Given the description of an element on the screen output the (x, y) to click on. 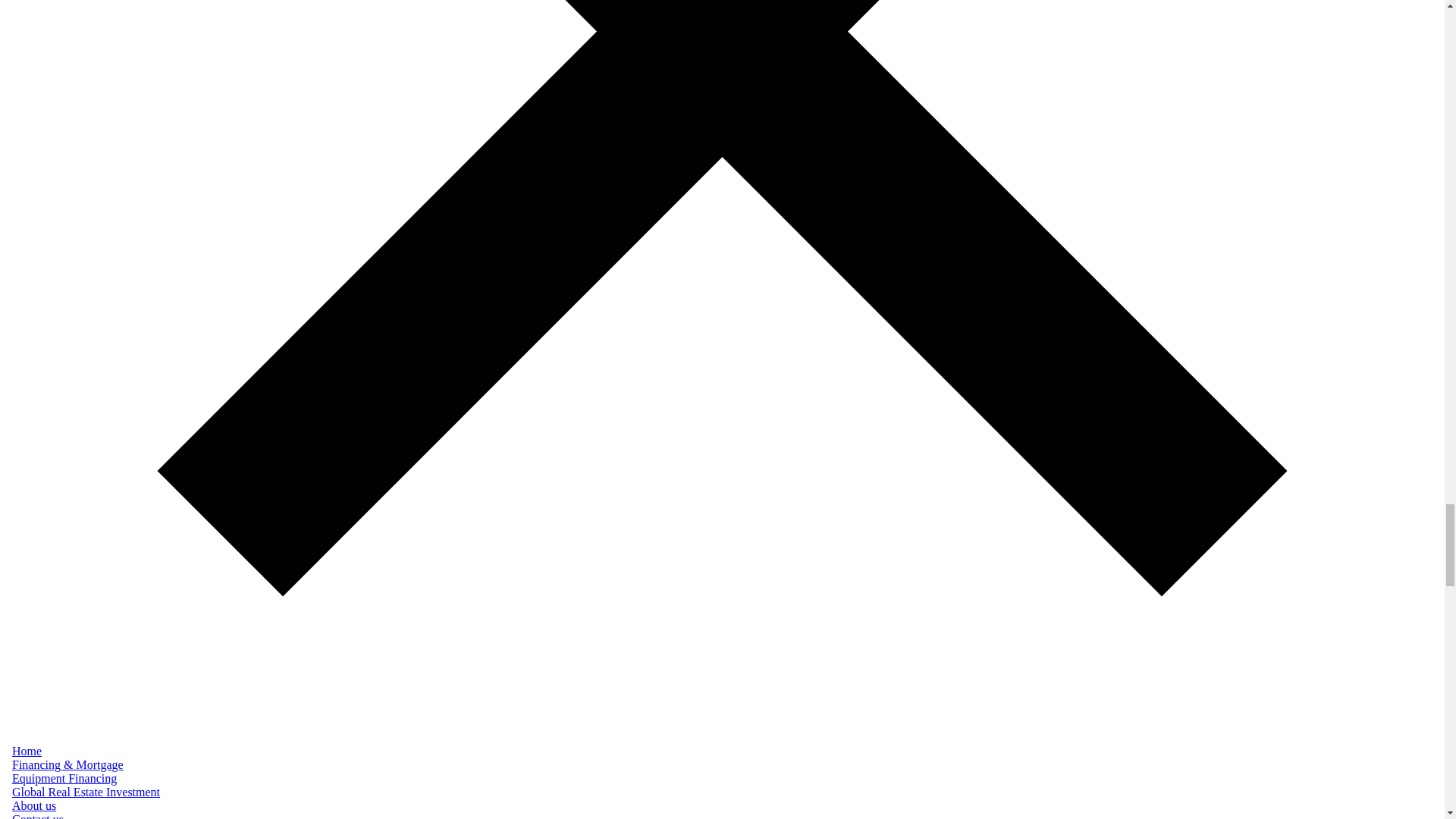
Contact us (37, 816)
Home (26, 750)
About us (33, 805)
Equipment Financing (63, 778)
Global Real Estate Investment (85, 791)
